Given the description of an element on the screen output the (x, y) to click on. 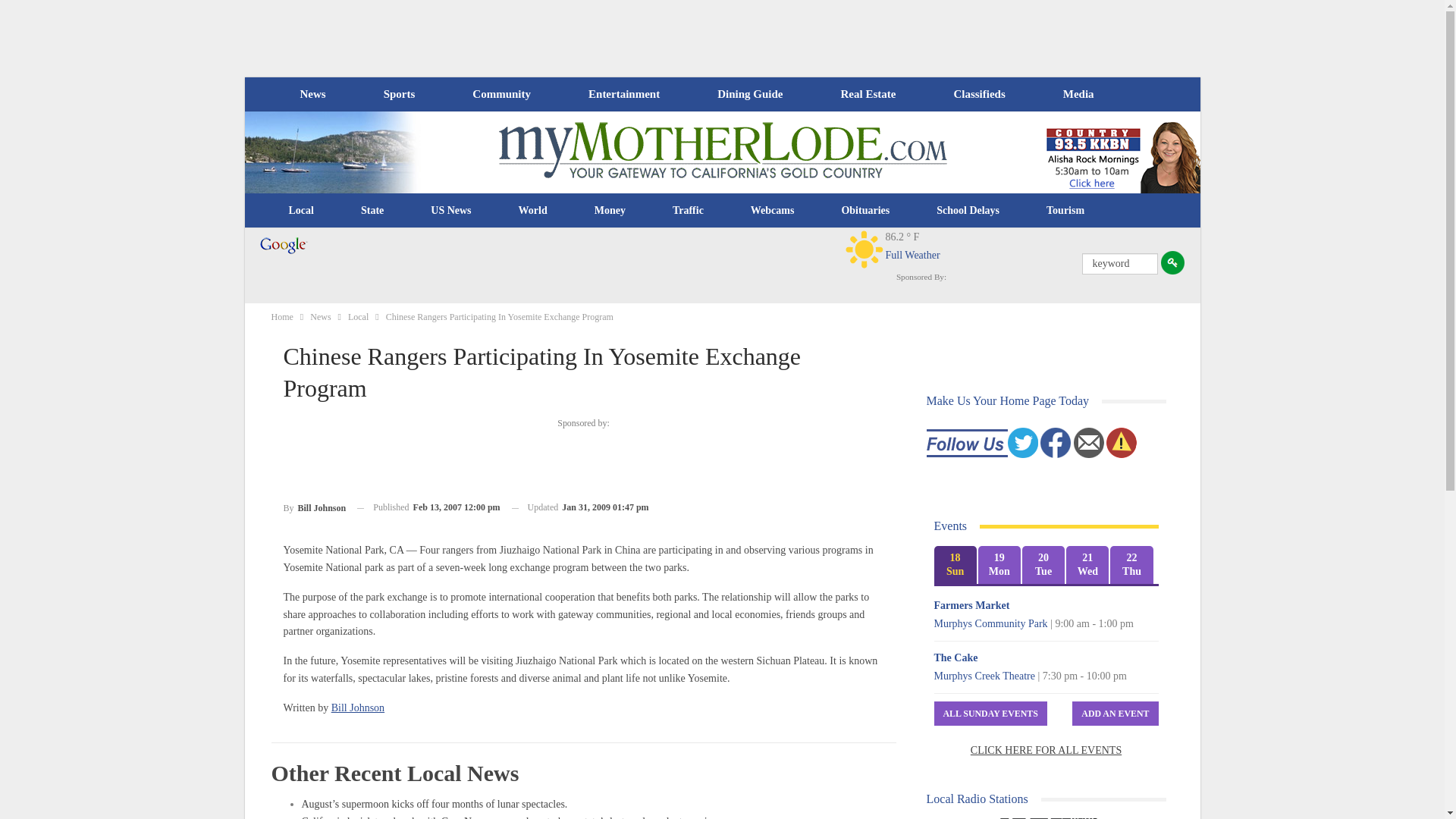
Clear (864, 249)
US News (451, 210)
Real Estate (868, 93)
Money (609, 210)
Webcams (772, 210)
Submit (1172, 262)
keyword (1119, 263)
Classifieds (979, 93)
